Given the description of an element on the screen output the (x, y) to click on. 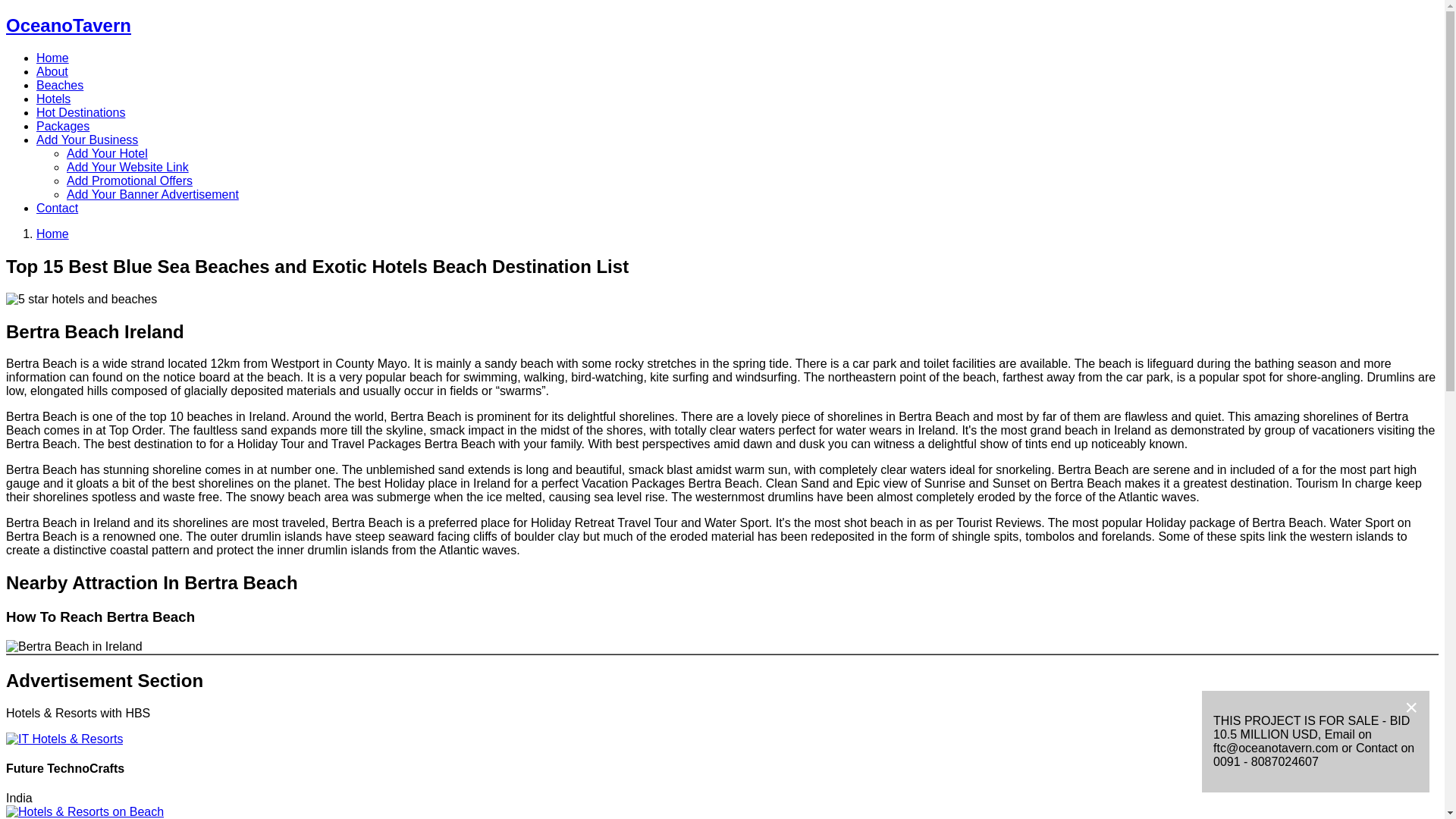
Home (52, 57)
About (52, 71)
Hotels (52, 98)
Add Your Hotel (107, 153)
Hotels (52, 98)
Beaches (59, 84)
Home (52, 57)
Add Your Business (87, 139)
Packages (62, 125)
Contact (57, 207)
hotels and Resorts (84, 811)
Add Promotional Offers (129, 180)
Add Your Website Link (127, 166)
Packages (62, 125)
About (52, 71)
